Given the description of an element on the screen output the (x, y) to click on. 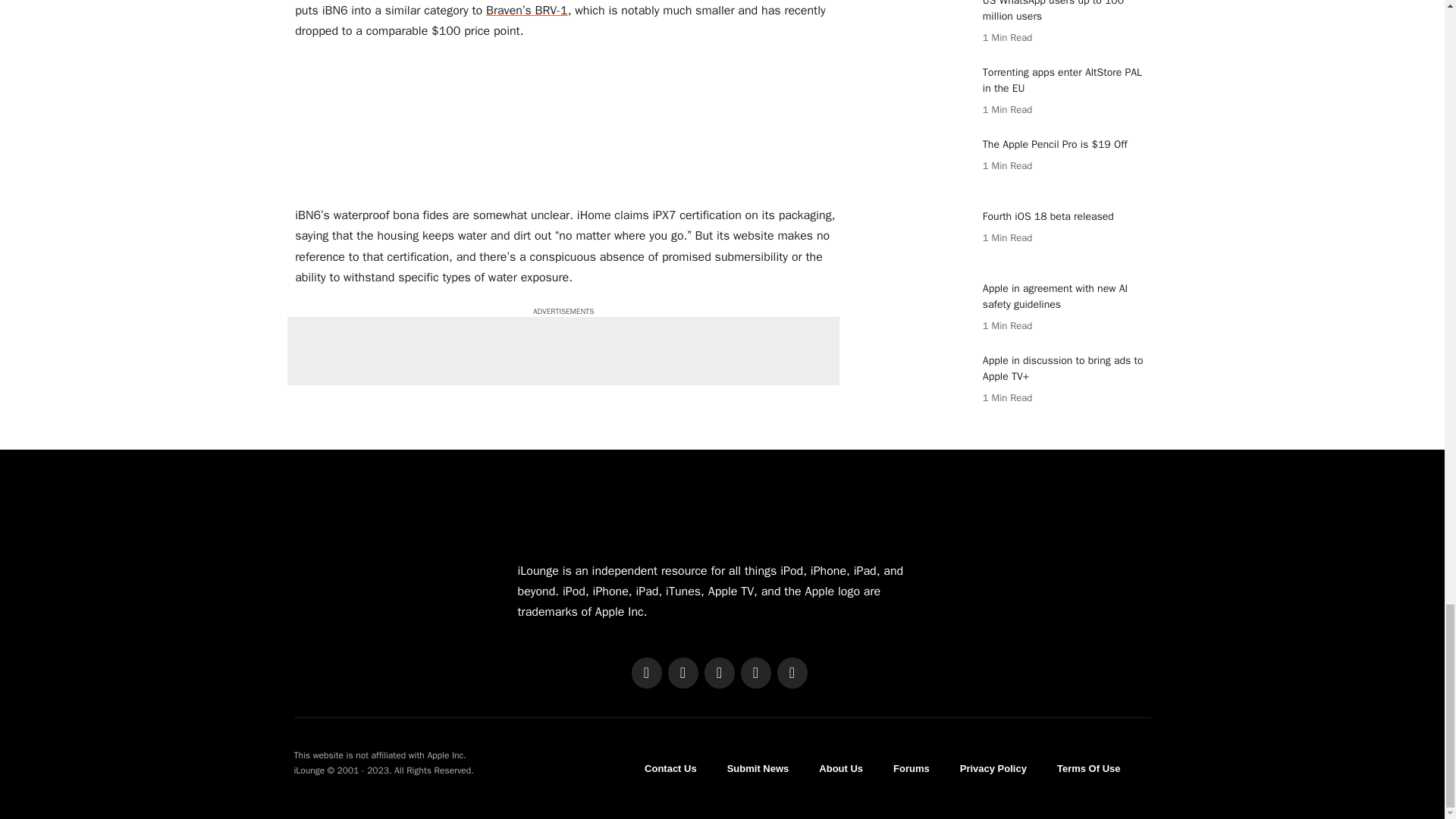
Instagram (718, 672)
Facebook (645, 672)
Twitter (681, 672)
LinkedIn (754, 672)
